Given the description of an element on the screen output the (x, y) to click on. 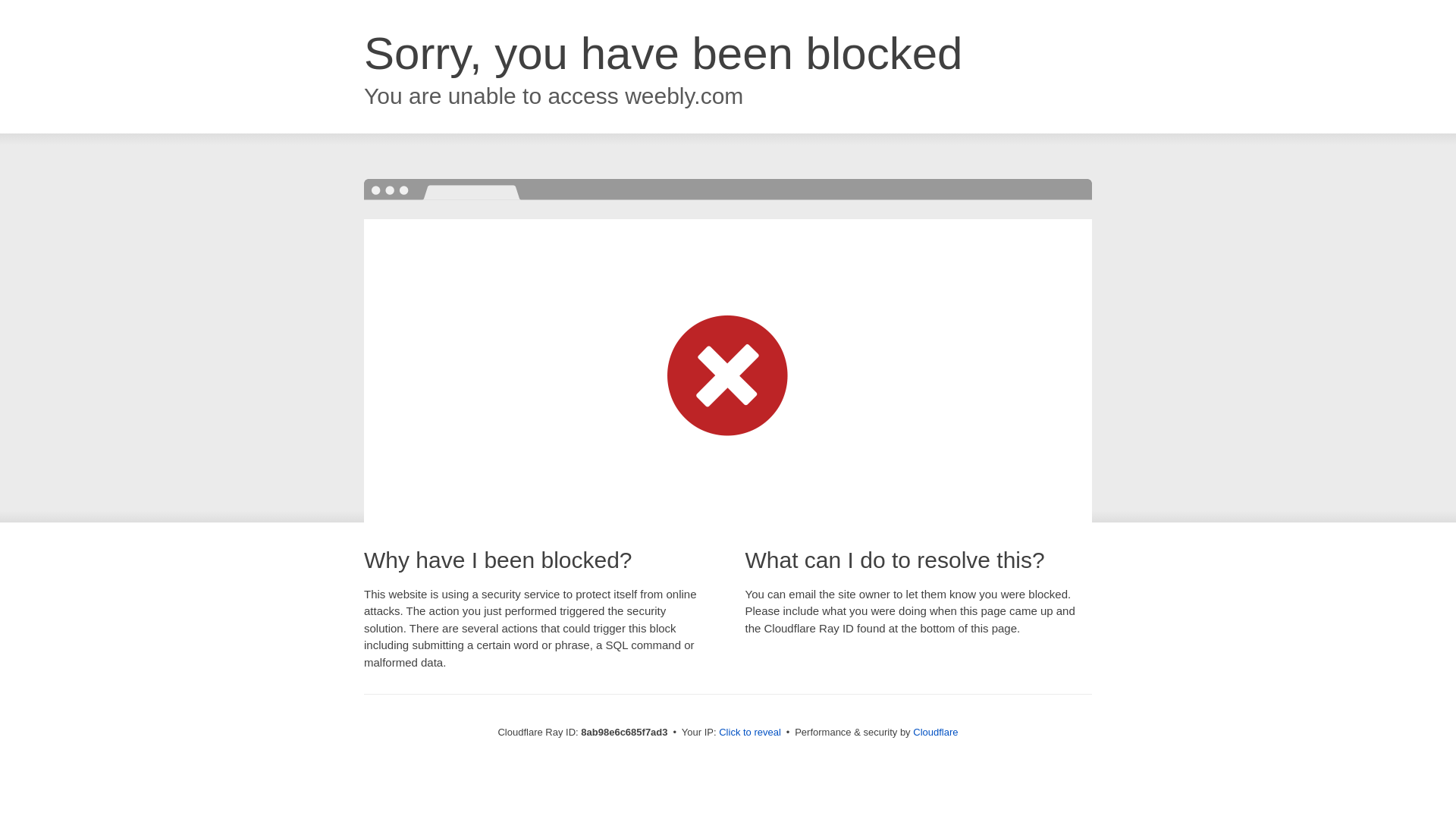
Cloudflare (935, 731)
Click to reveal (749, 732)
